Given the description of an element on the screen output the (x, y) to click on. 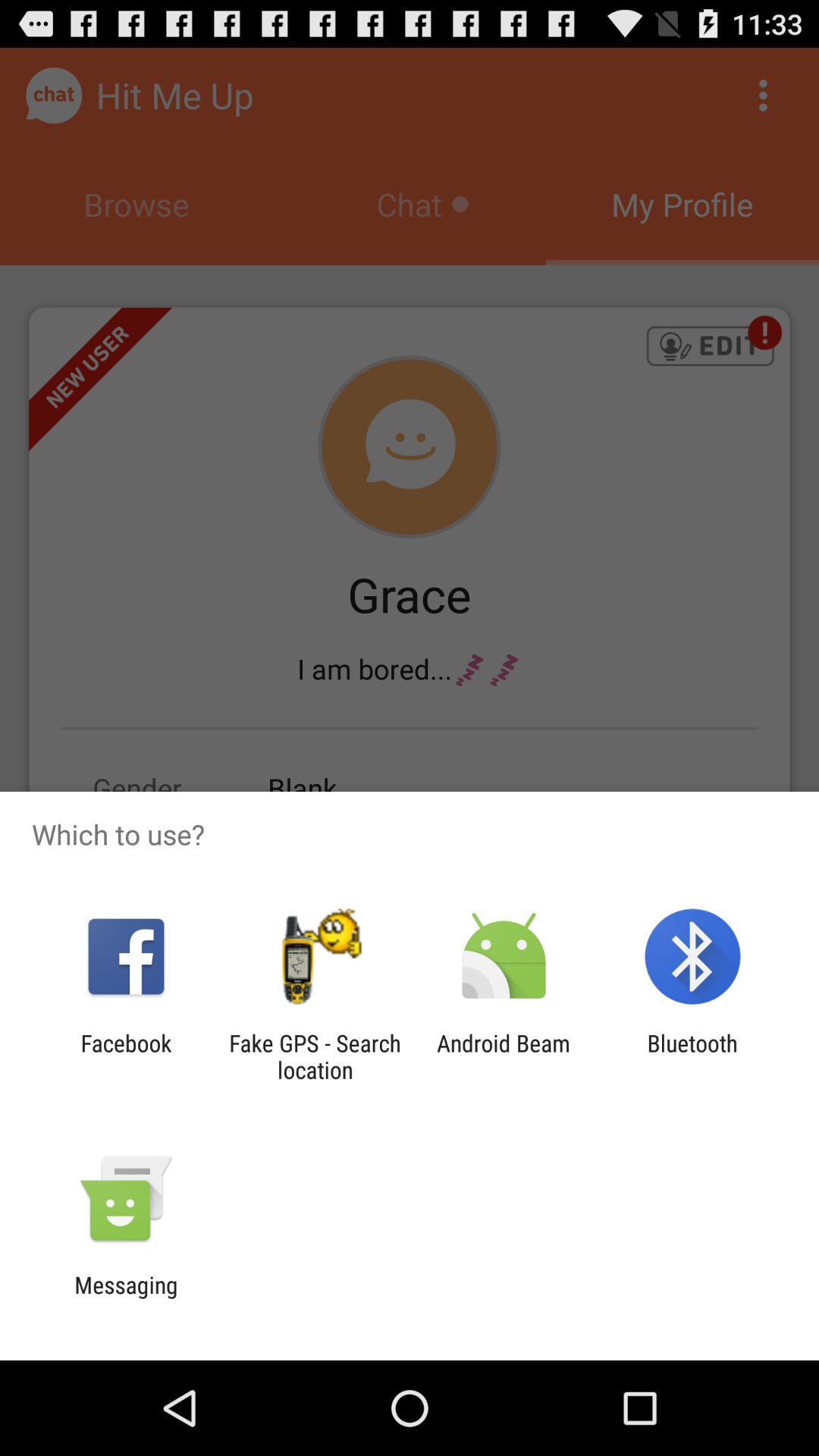
tap the app next to facebook (314, 1056)
